Given the description of an element on the screen output the (x, y) to click on. 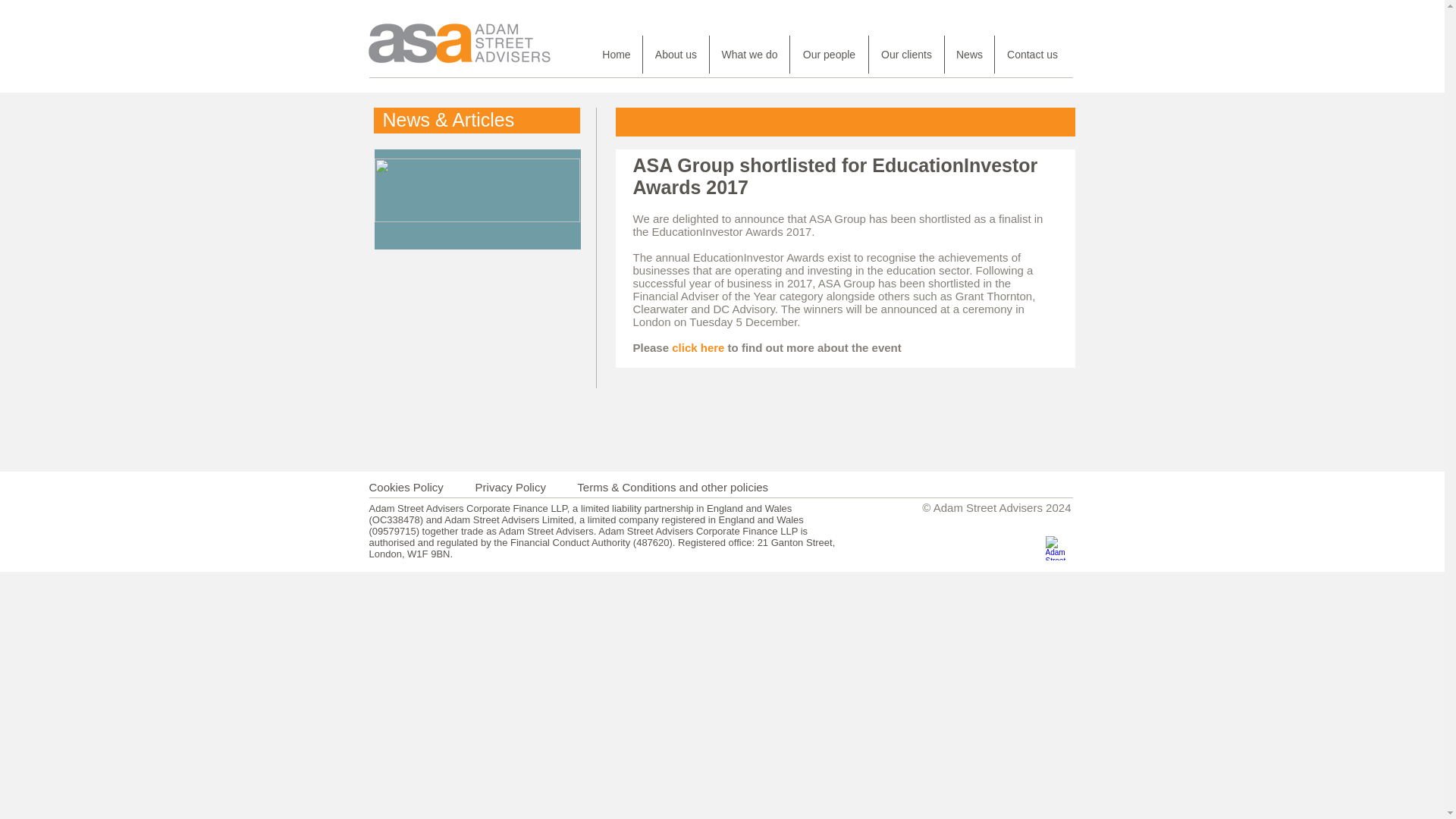
Privacy Policy (511, 486)
click here (697, 347)
Home (616, 54)
About us (676, 54)
Our people (828, 54)
Our clients (906, 54)
Cookies Policy (405, 486)
News (969, 54)
Contact us (1032, 54)
What we do (749, 54)
